Given the description of an element on the screen output the (x, y) to click on. 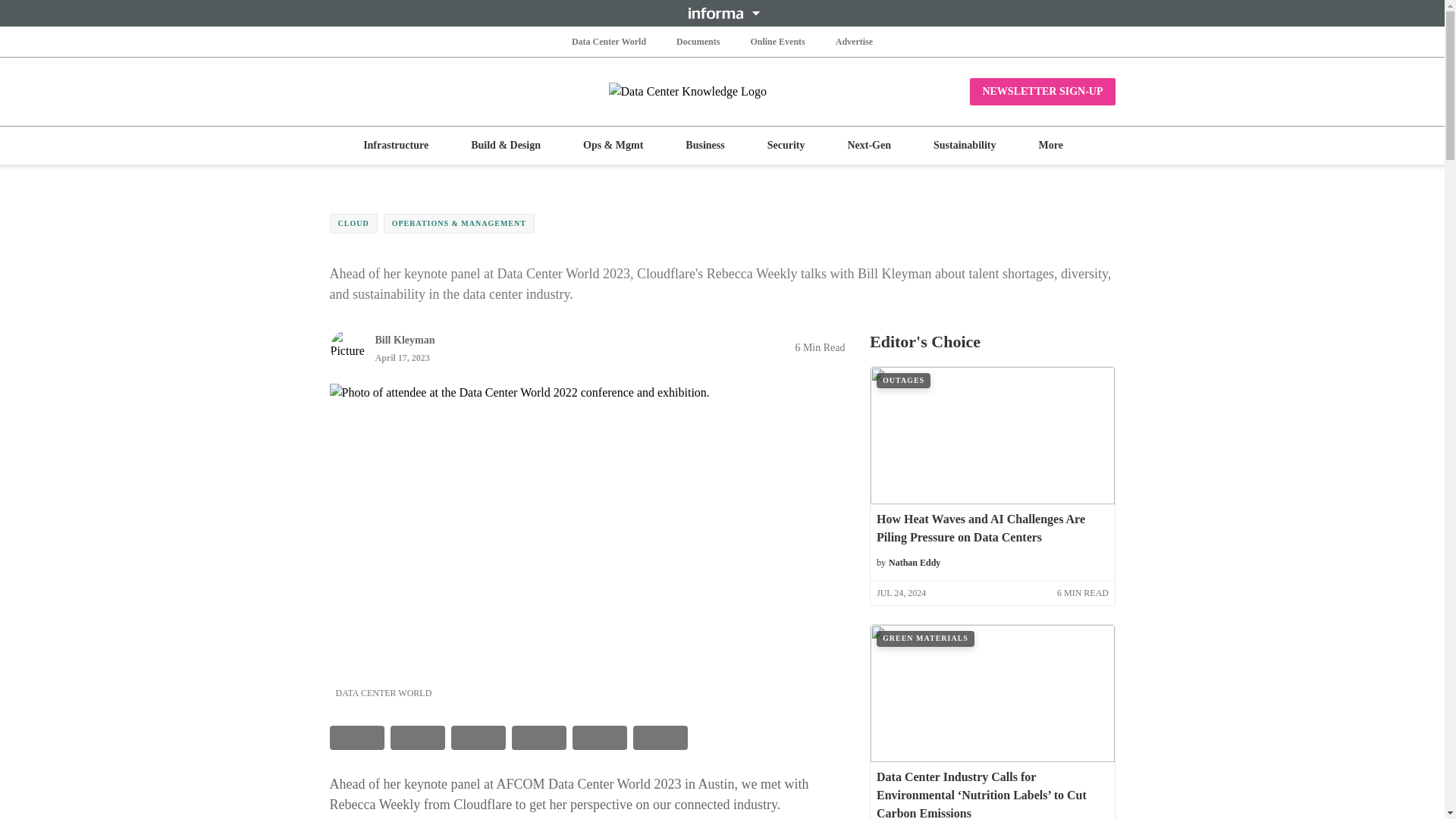
NEWSLETTER SIGN-UP (1042, 90)
Online Events (777, 41)
Picture of Bill Kleyman (347, 347)
Documents (697, 41)
Advertise (854, 41)
Data Center Knowledge Logo (721, 91)
Data Center World (609, 41)
